Given the description of an element on the screen output the (x, y) to click on. 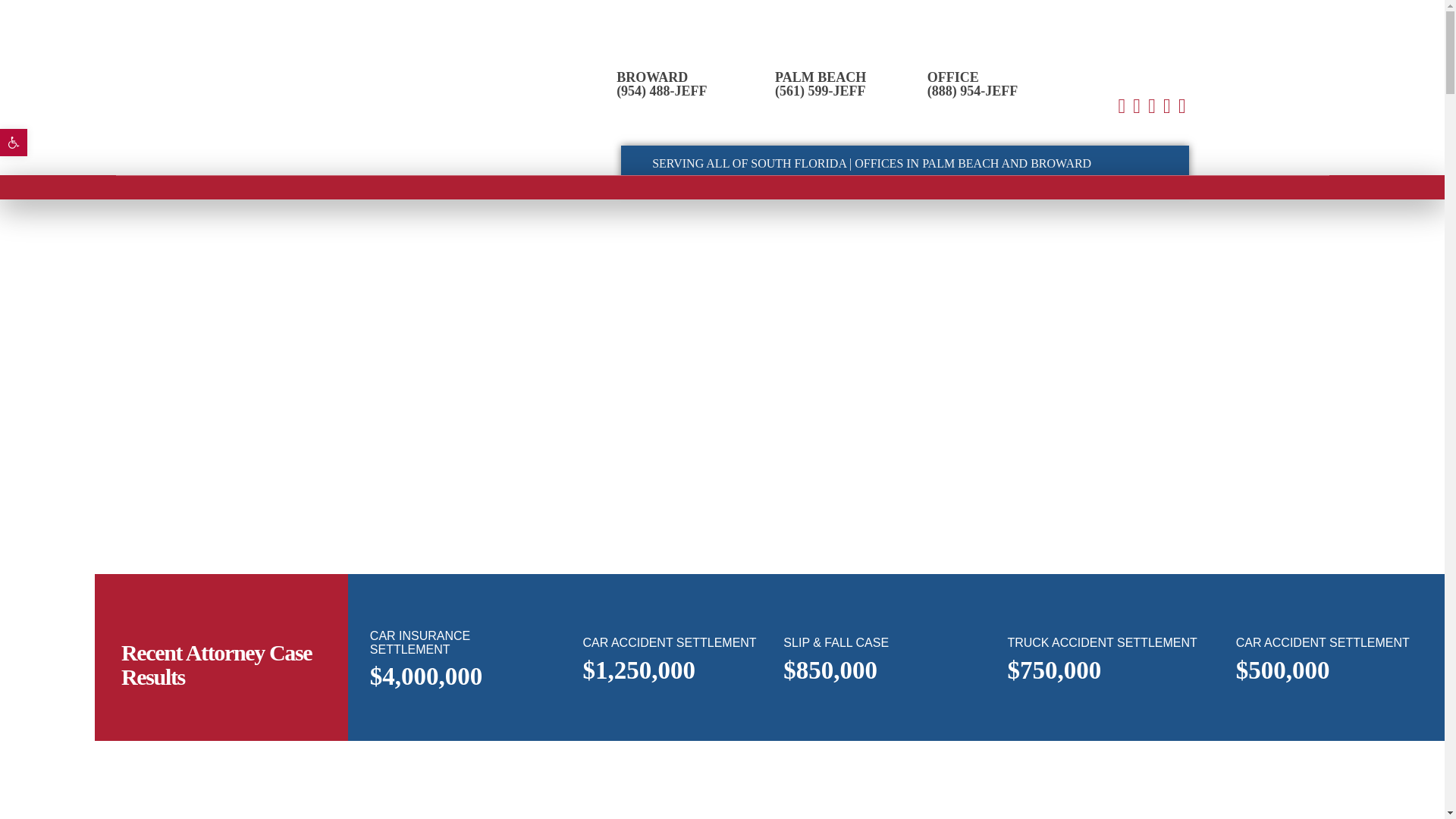
South Florida Injury Law Firm (267, 128)
South Florida Injury Law Firm (267, 128)
The South Florida Injury Law Firm 17 (294, 313)
Accessibility Tools (13, 142)
South Florida Injury Law Firm (304, 80)
